Given the description of an element on the screen output the (x, y) to click on. 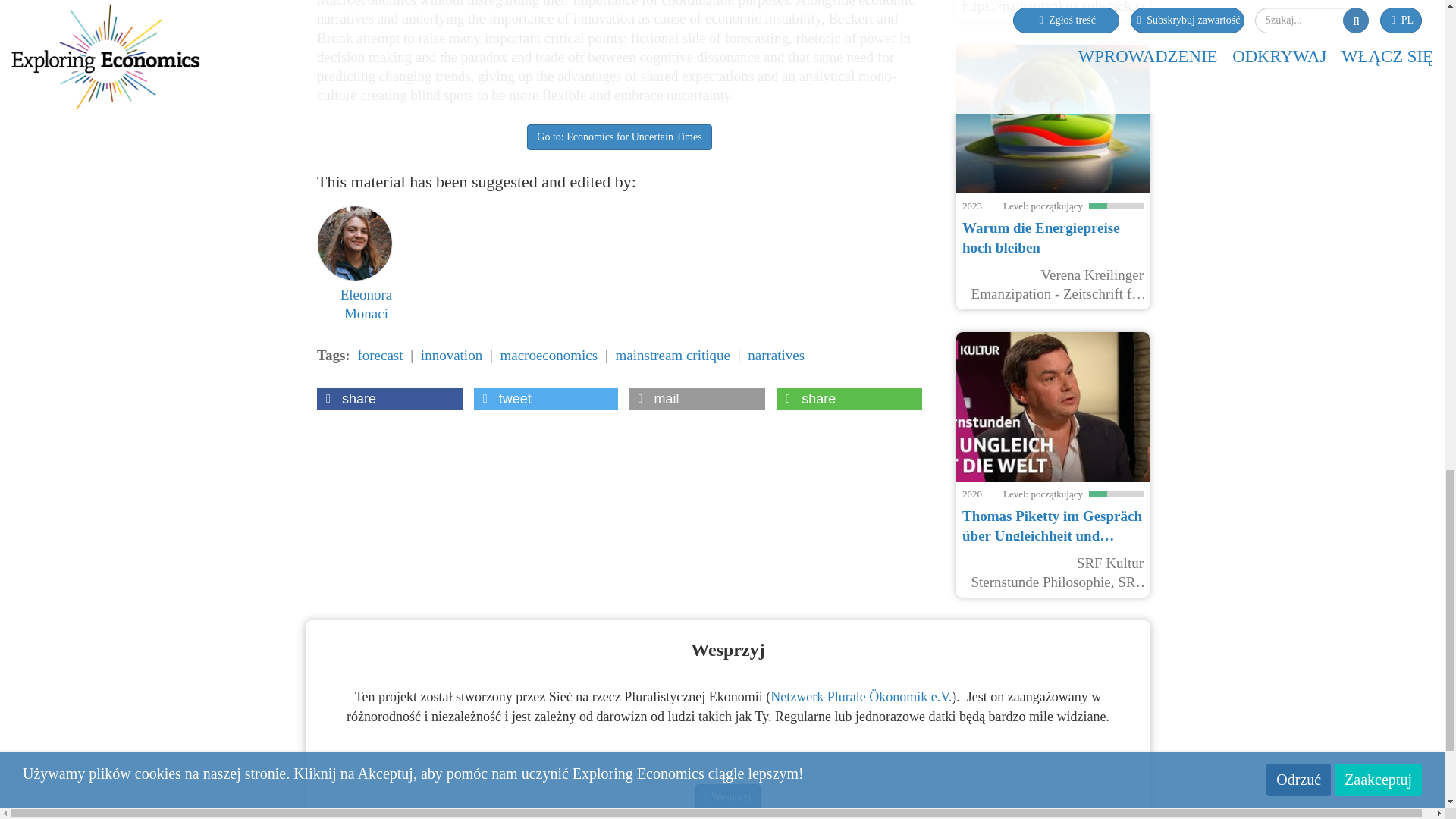
Go to: Economics for Uncertain Times (619, 136)
mainstream critique (672, 355)
macroeconomics (547, 355)
Share on Facebook (390, 398)
Share on Twitter (545, 398)
forecast (379, 355)
narratives (776, 355)
innovation (450, 355)
Share on Whatsapp (848, 398)
Send by email (696, 398)
